Given the description of an element on the screen output the (x, y) to click on. 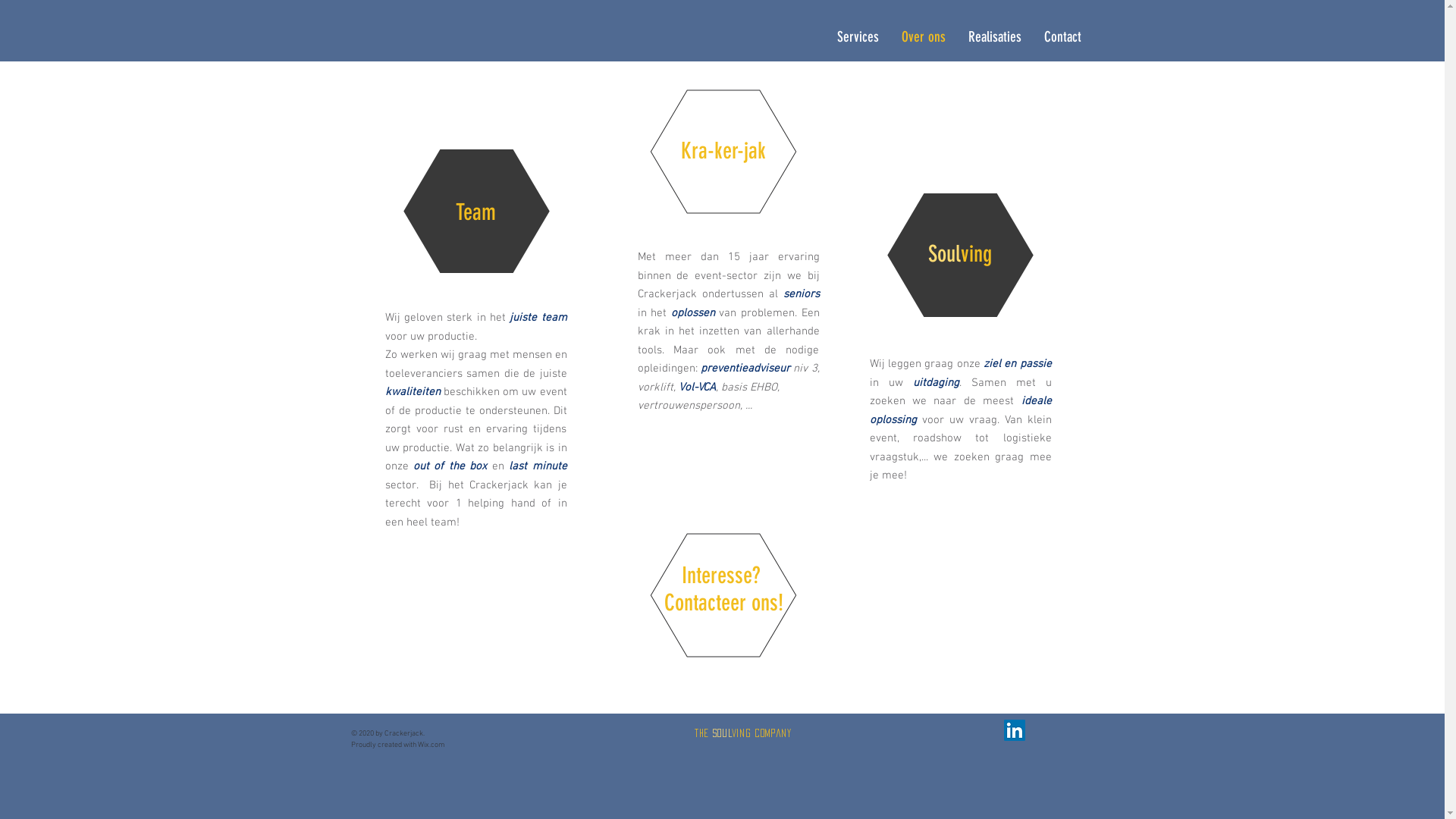
Wix.com Element type: text (430, 744)
Over ons Element type: text (923, 38)
Realisaties Element type: text (994, 38)
Services Element type: text (857, 38)
Interesse?  Element type: text (722, 574)
Contact Element type: text (1062, 38)
